Given the description of an element on the screen output the (x, y) to click on. 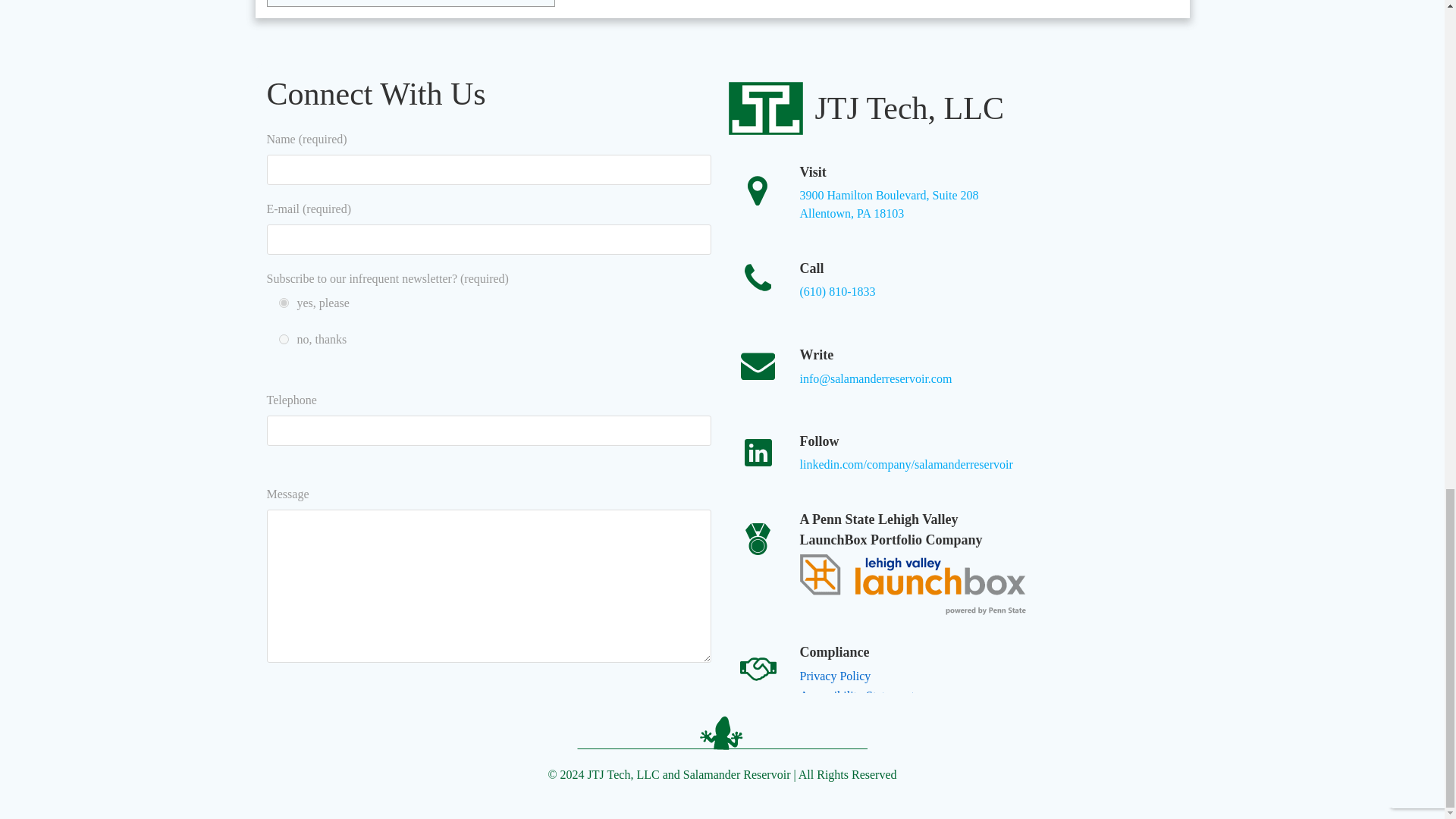
yes, please (283, 302)
Send (650, 713)
no, thanks (888, 204)
Accessibility Statement (283, 338)
Send (856, 705)
Privacy Policy (650, 713)
